Given the description of an element on the screen output the (x, y) to click on. 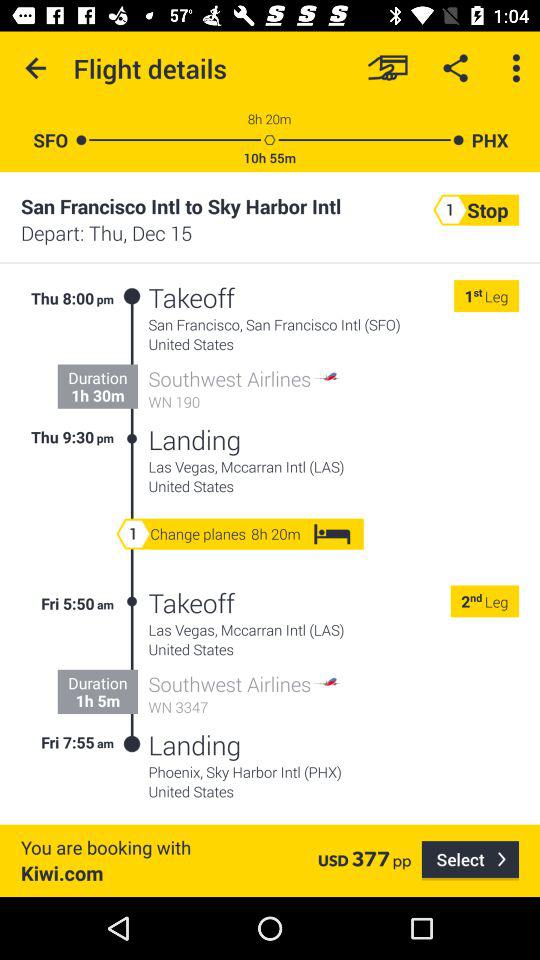
click the icon above the phx item (516, 67)
